Given the description of an element on the screen output the (x, y) to click on. 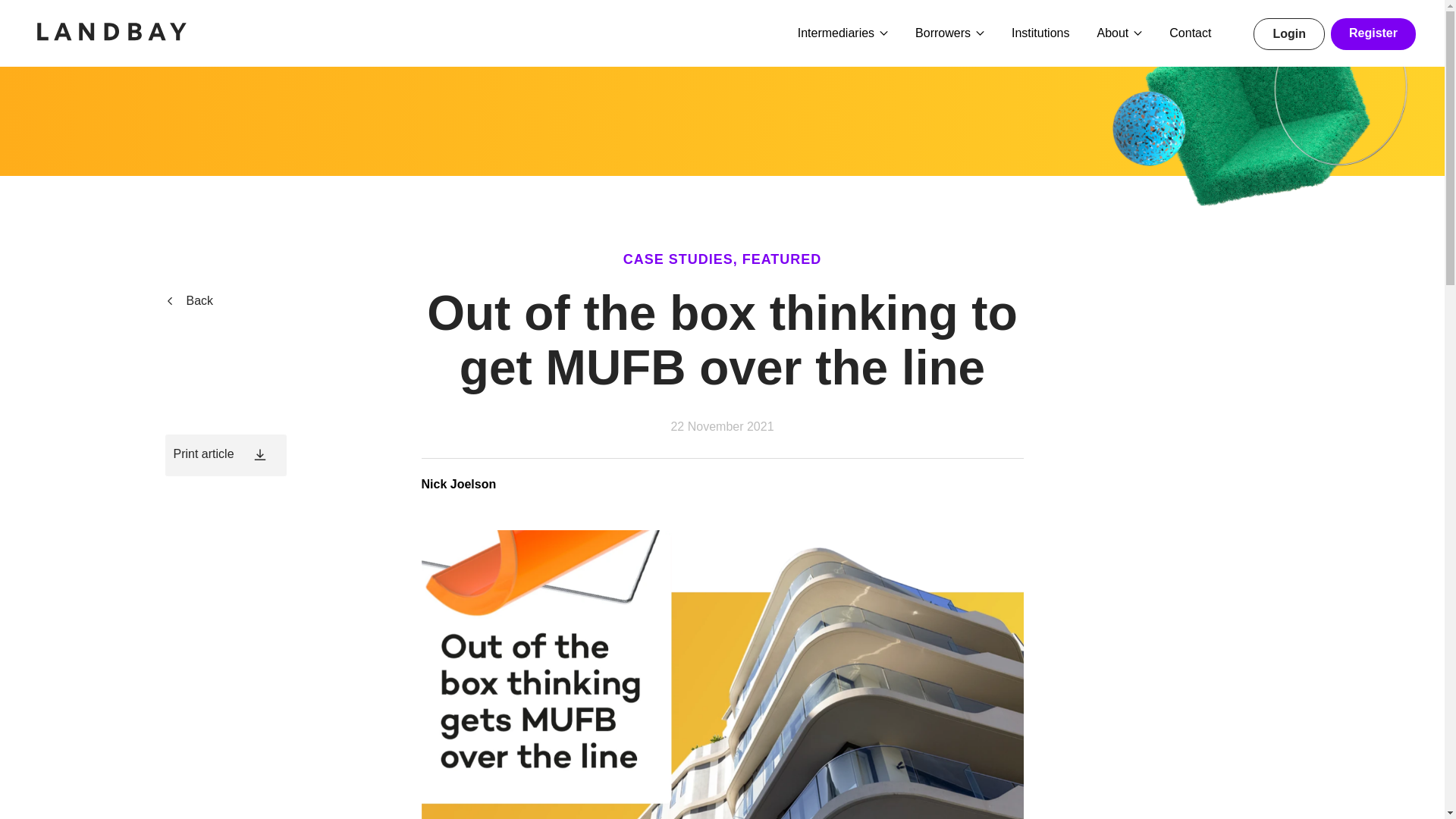
Landbay (114, 31)
Login (1288, 33)
Print article (225, 454)
About (1118, 34)
Borrowers (949, 34)
Register (1372, 33)
Contact (1190, 34)
Institutions (1039, 34)
Back (189, 300)
Intermediaries (842, 34)
